Given the description of an element on the screen output the (x, y) to click on. 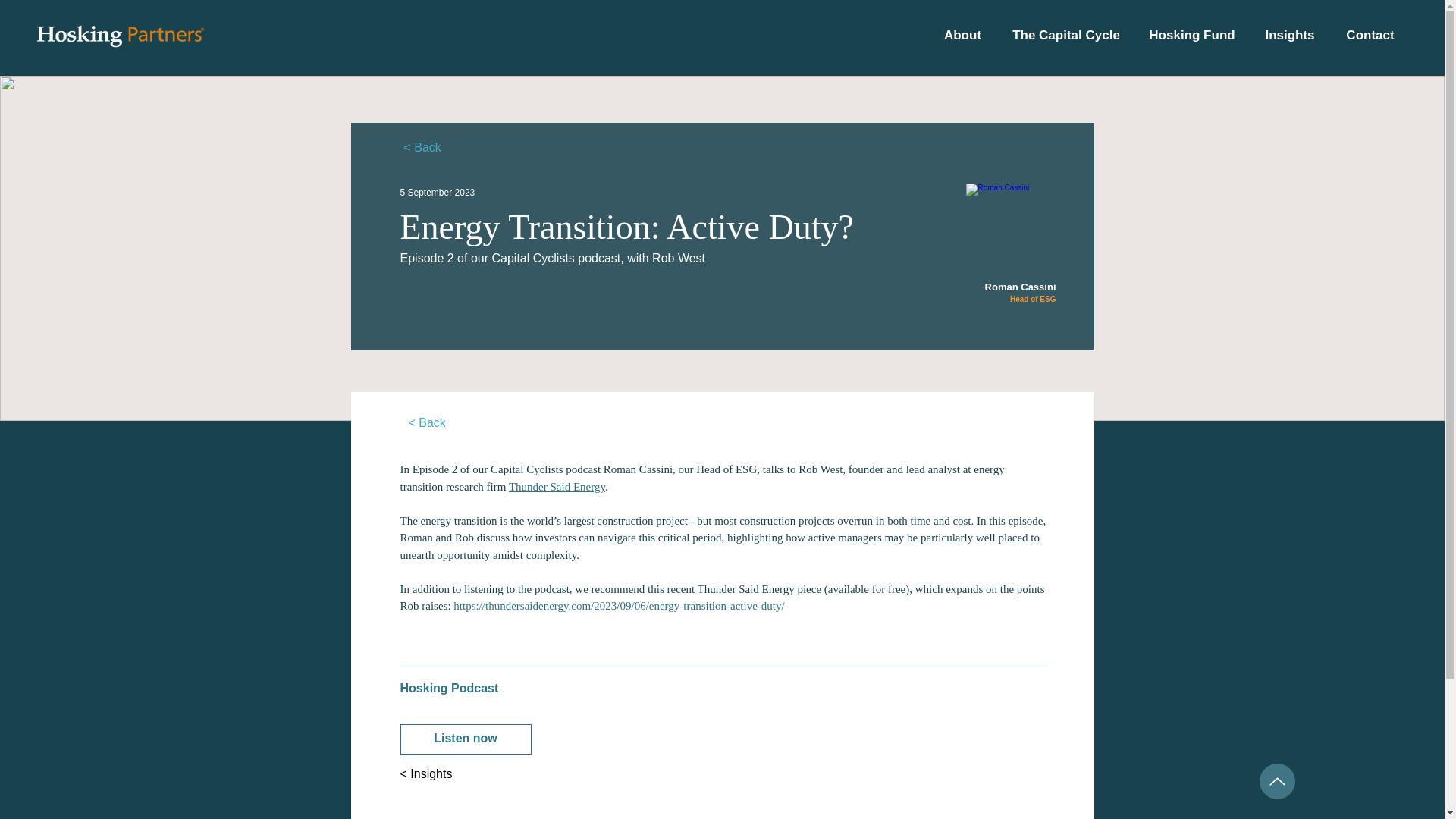
Thunder Said Energy (556, 486)
The Capital Cycle (1065, 35)
Listen now (465, 738)
About (962, 35)
Hosking Fund (1191, 35)
Contact (1369, 35)
Roman Cassini (1011, 227)
Insights (1289, 35)
